Given the description of an element on the screen output the (x, y) to click on. 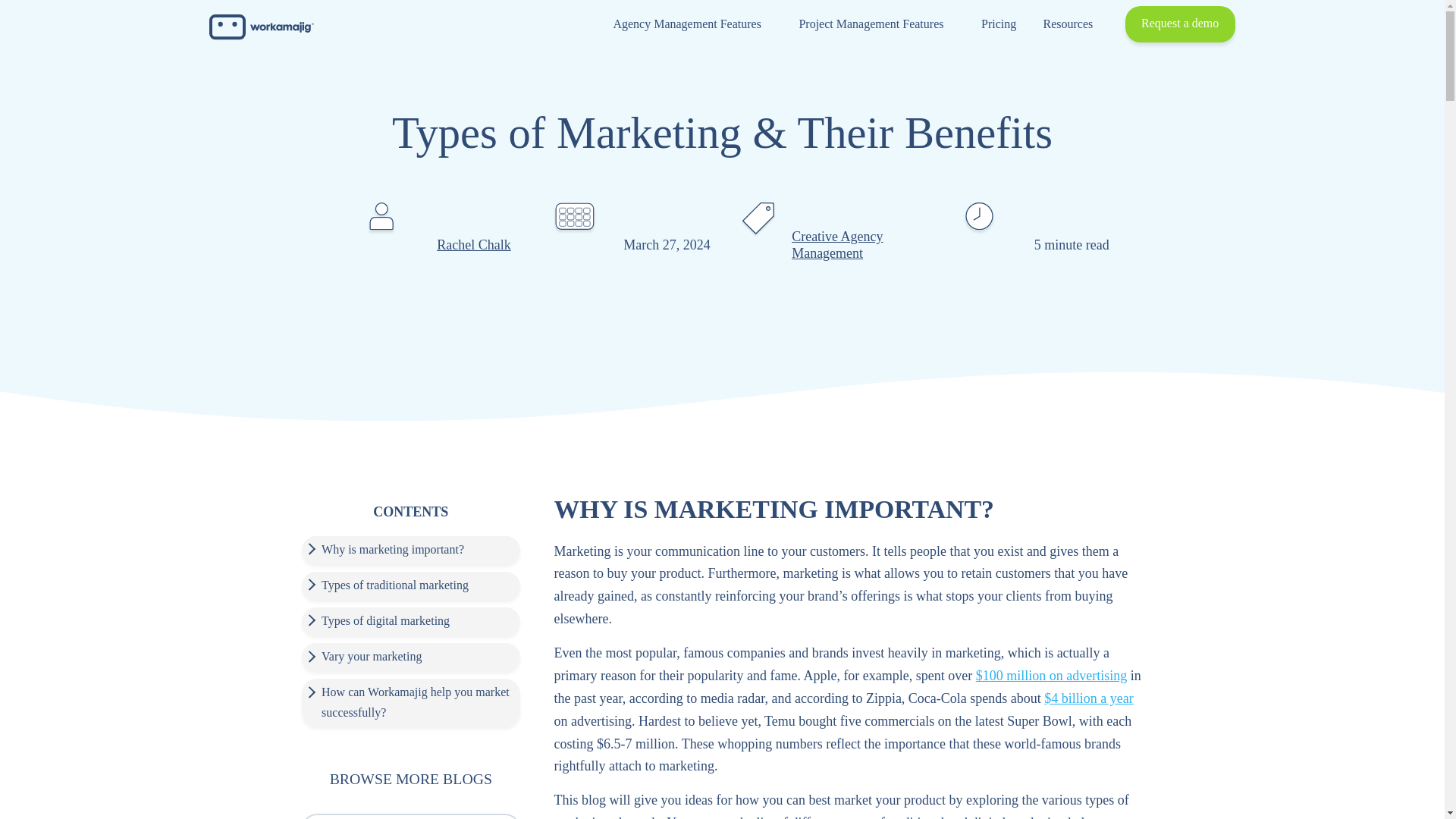
Creative Agency Management (837, 245)
Rachel Chalk (473, 244)
Pricing (998, 24)
How can Workamajig help you market successfully? (411, 702)
Resources (1073, 24)
Types of traditional marketing (411, 585)
Vary your marketing (411, 656)
Project Management Features (876, 24)
Agency Management Features (692, 24)
Types of digital marketing (411, 621)
Why is marketing important? (411, 550)
Request a demo (1179, 23)
